Given the description of an element on the screen output the (x, y) to click on. 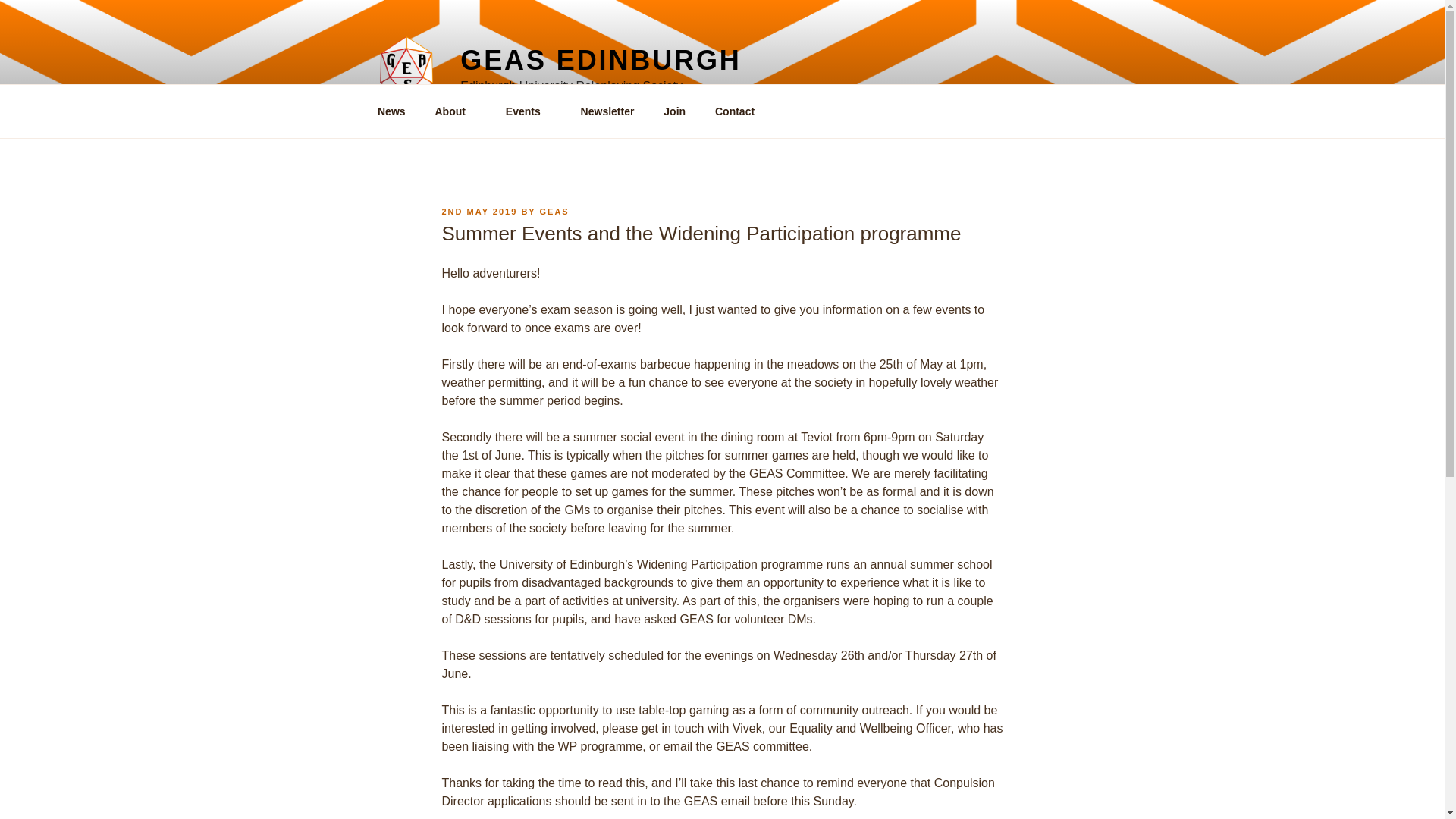
GEAS EDINBURGH (600, 60)
Join (674, 110)
Newsletter (607, 110)
Events (528, 110)
2ND MAY 2019 (478, 211)
News (391, 110)
Contact (734, 110)
About (455, 110)
GEAS (554, 211)
